Given the description of an element on the screen output the (x, y) to click on. 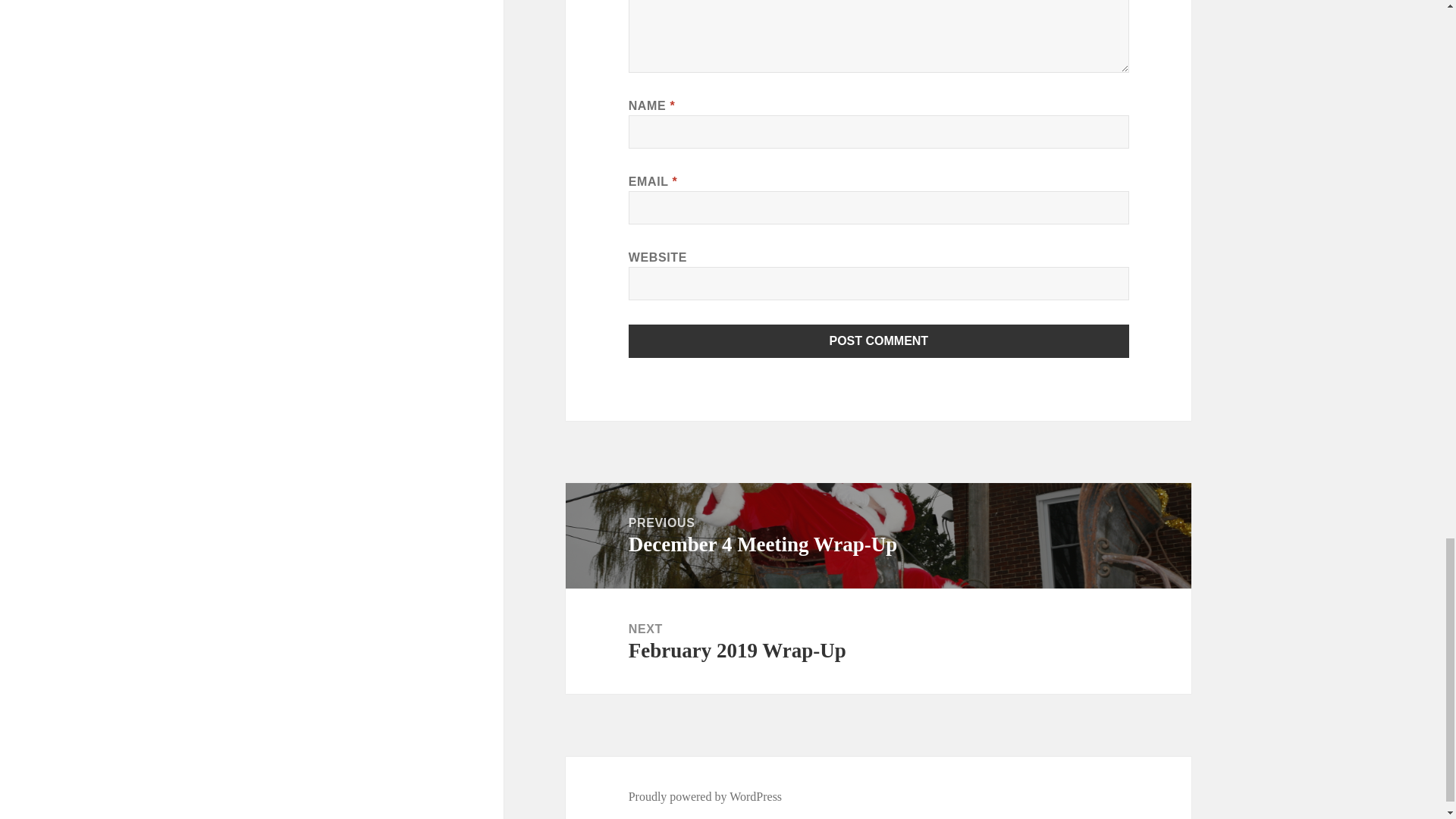
Proudly powered by WordPress (704, 796)
Post Comment (878, 641)
Post Comment (878, 535)
